Given the description of an element on the screen output the (x, y) to click on. 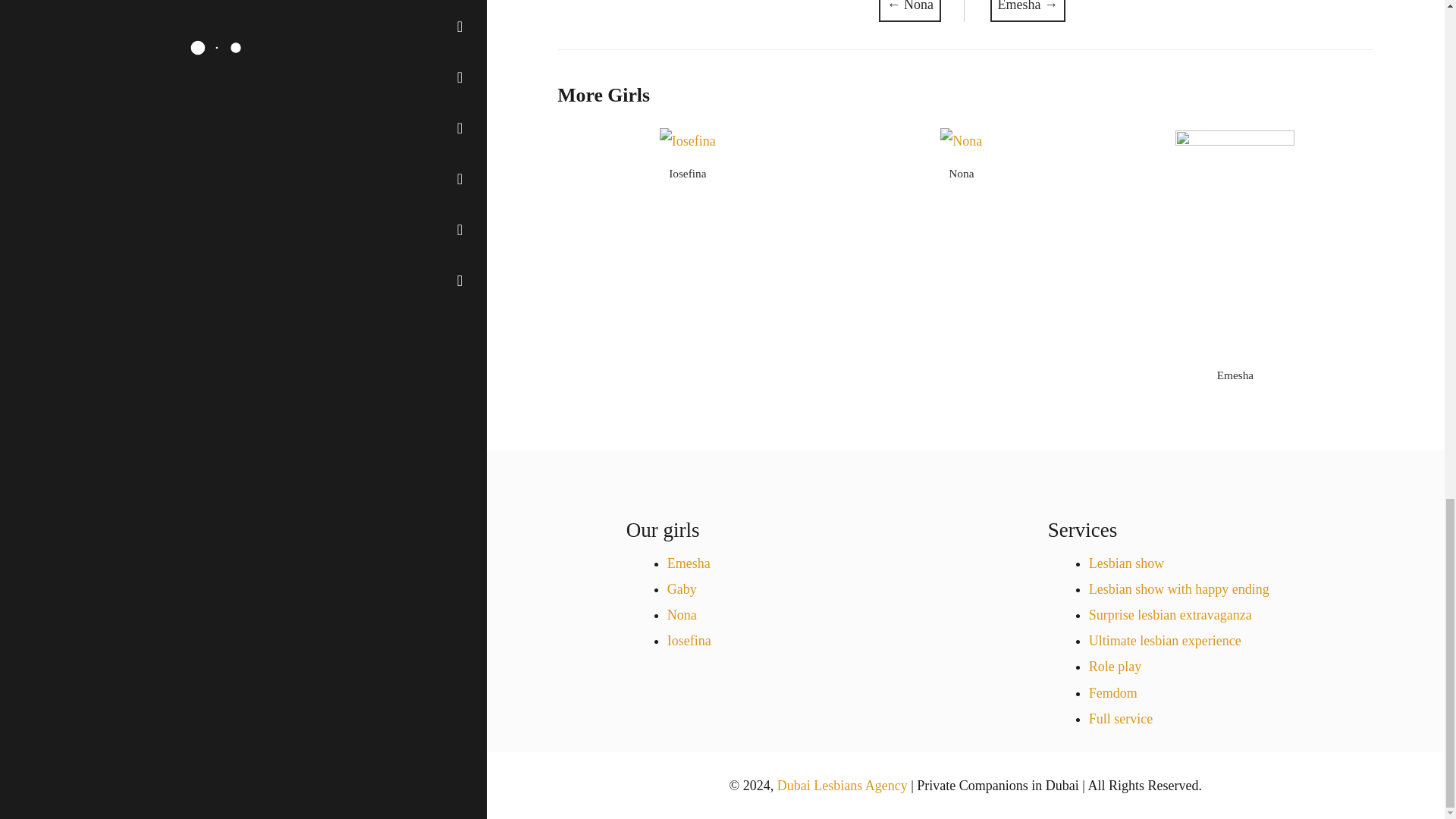
Iosefina (687, 173)
Nona (961, 173)
